Given the description of an element on the screen output the (x, y) to click on. 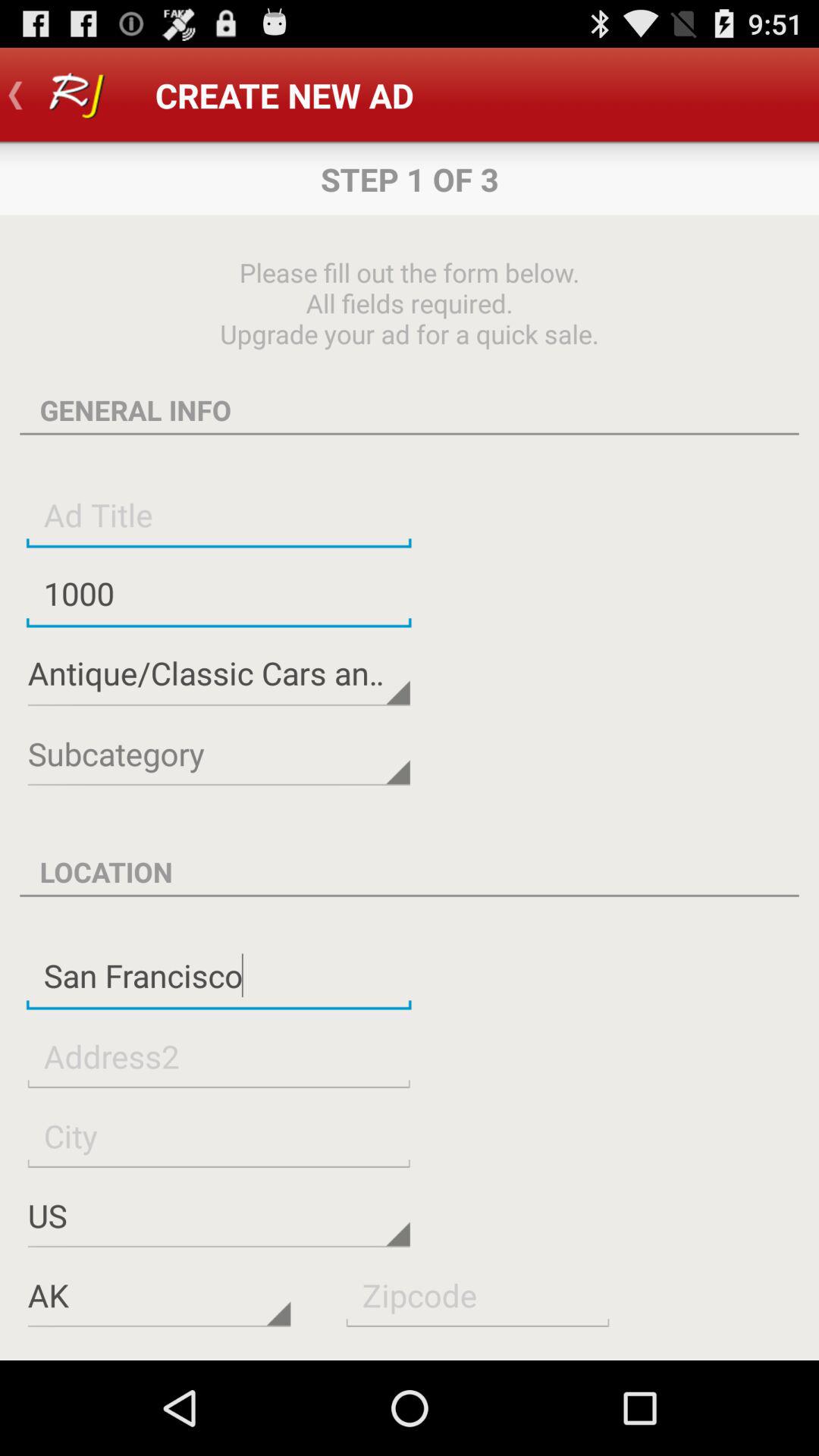
create adds (477, 1294)
